Given the description of an element on the screen output the (x, y) to click on. 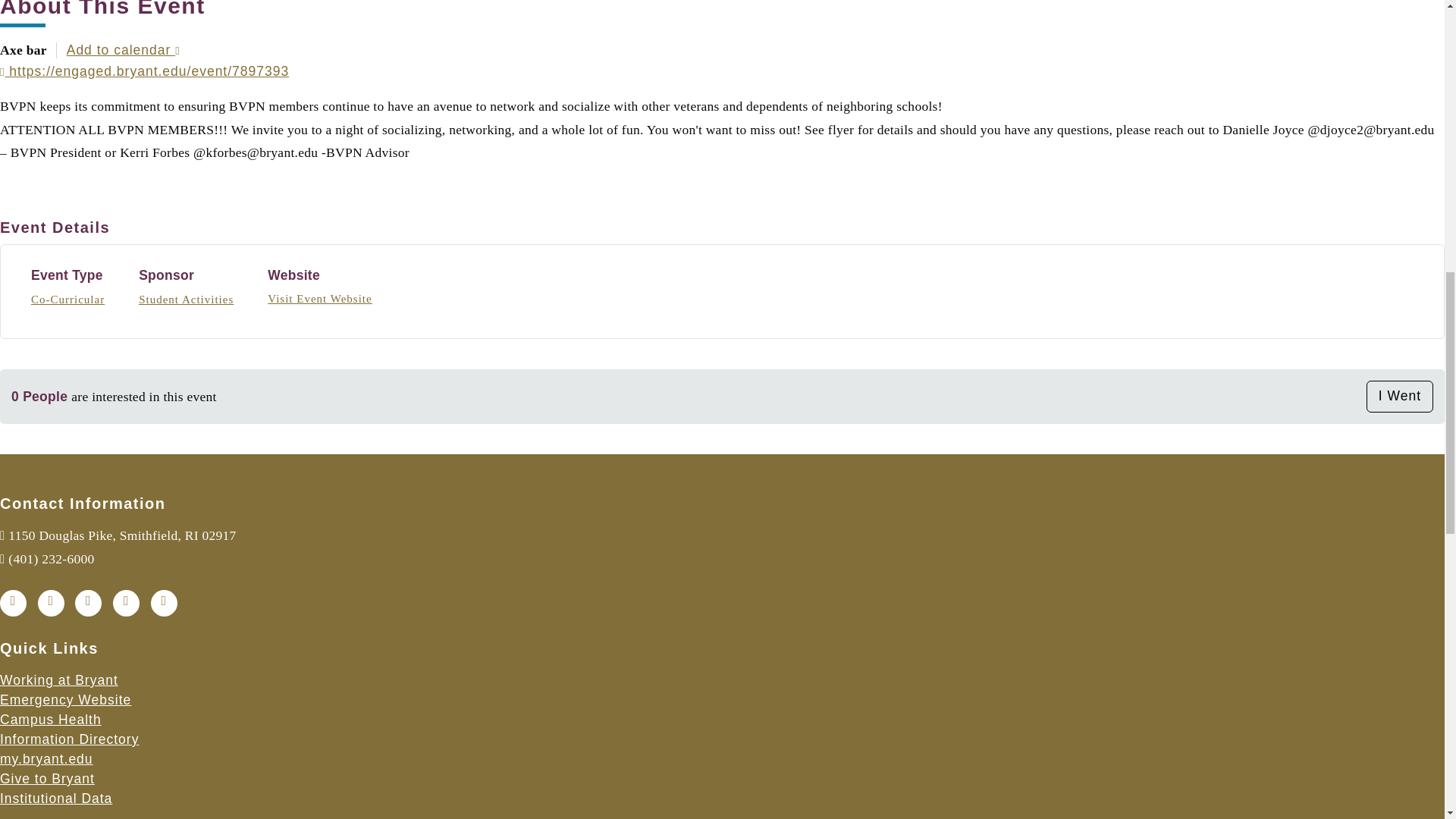
Emergency Website (65, 699)
Working at Bryant (58, 679)
Information Directory (69, 739)
Visit Event Website (319, 298)
Co-Curricular (67, 300)
Student Activities (185, 300)
I Went (1399, 396)
Add to calendar (123, 50)
my.bryant.edu (46, 758)
Campus Health (50, 719)
